Given the description of an element on the screen output the (x, y) to click on. 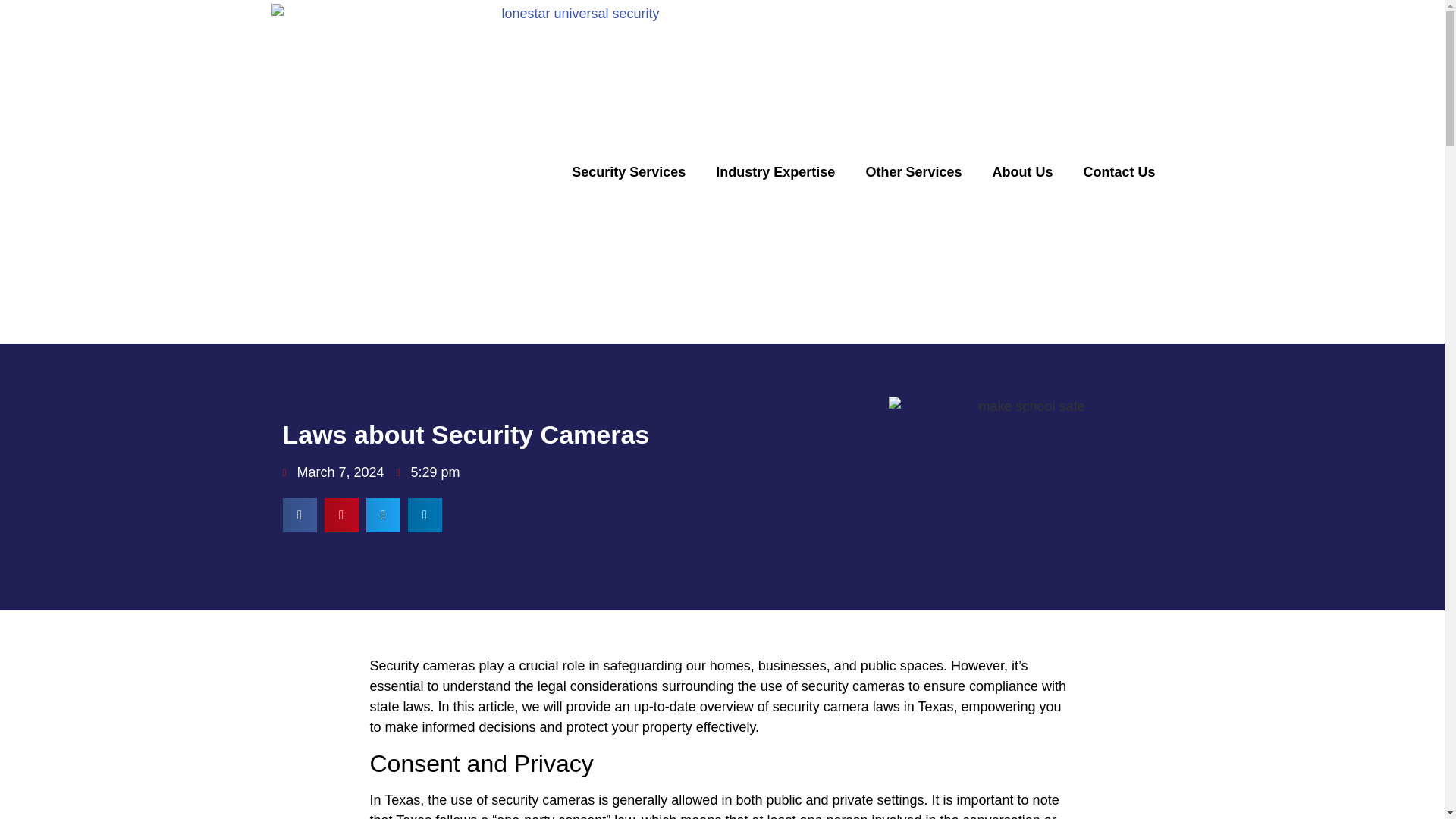
Security Services (628, 171)
Industry Expertise (775, 171)
Contact Us (1118, 171)
About Us (1021, 171)
Other Services (913, 171)
